Given the description of an element on the screen output the (x, y) to click on. 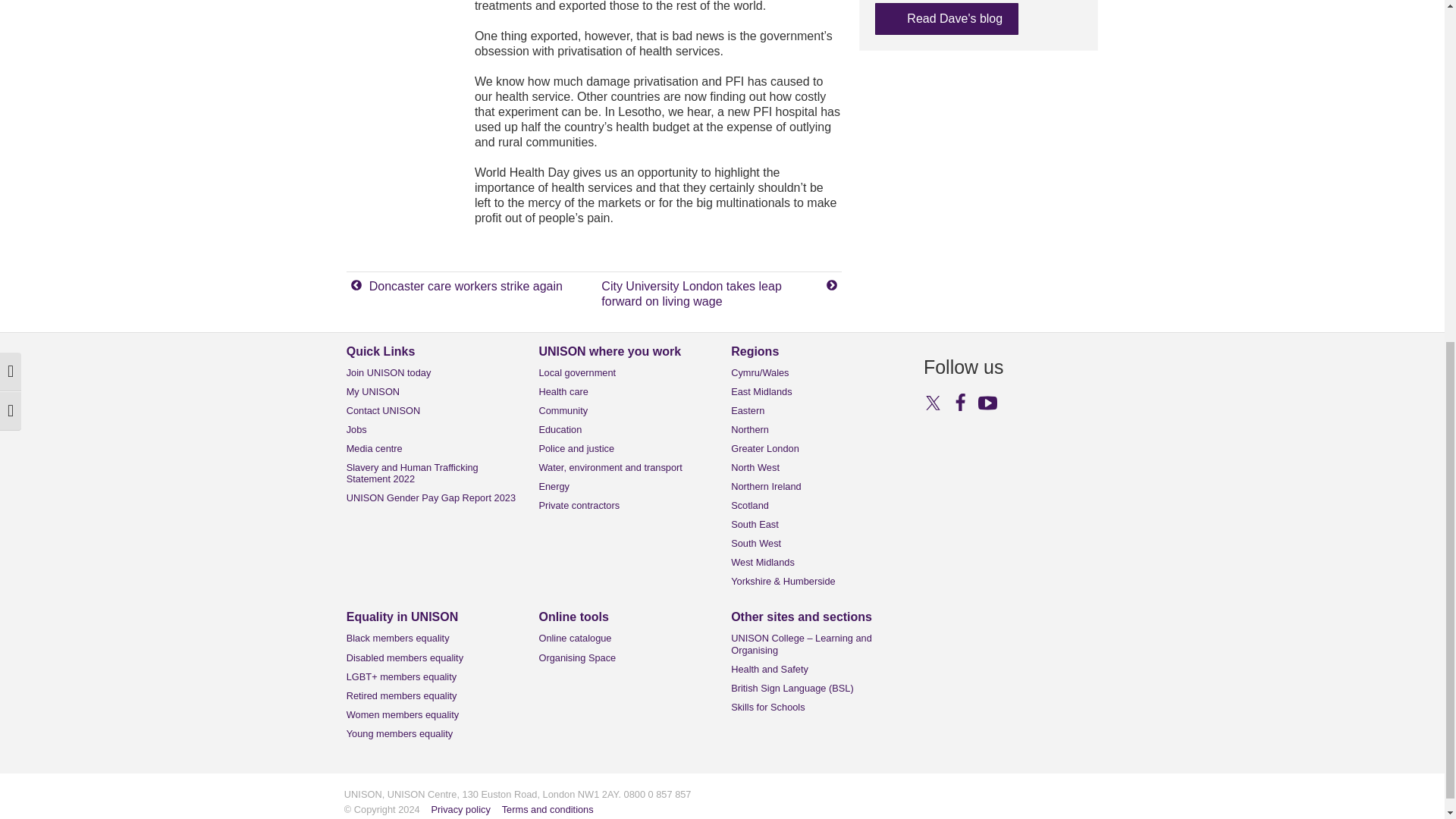
Youtube (987, 402)
Facebook (959, 402)
Twitter (932, 402)
